Given the description of an element on the screen output the (x, y) to click on. 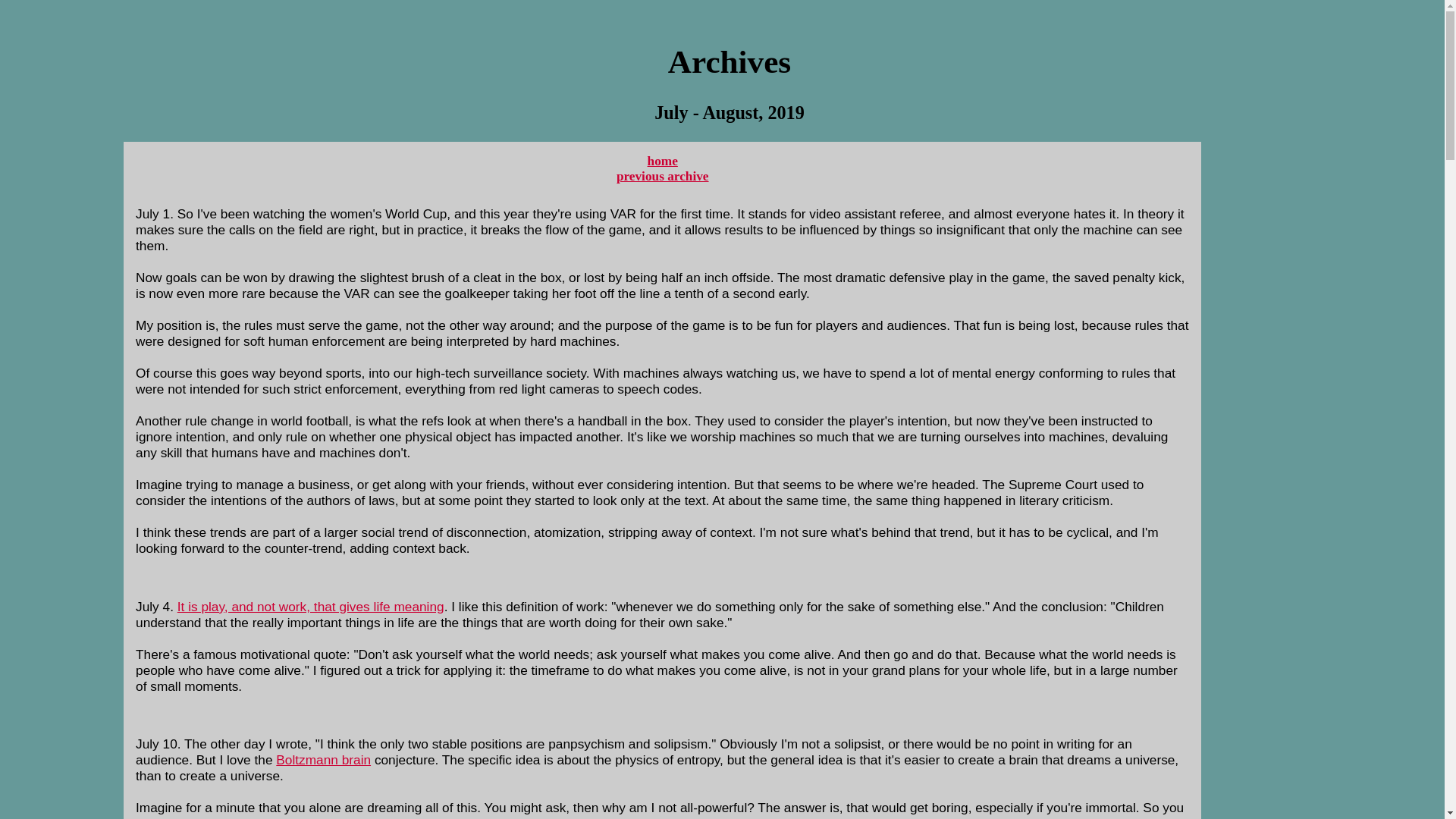
Boltzmann brain (323, 759)
home (662, 160)
It is play, and not work, that gives life meaning (310, 606)
previous archive (662, 175)
